Given the description of an element on the screen output the (x, y) to click on. 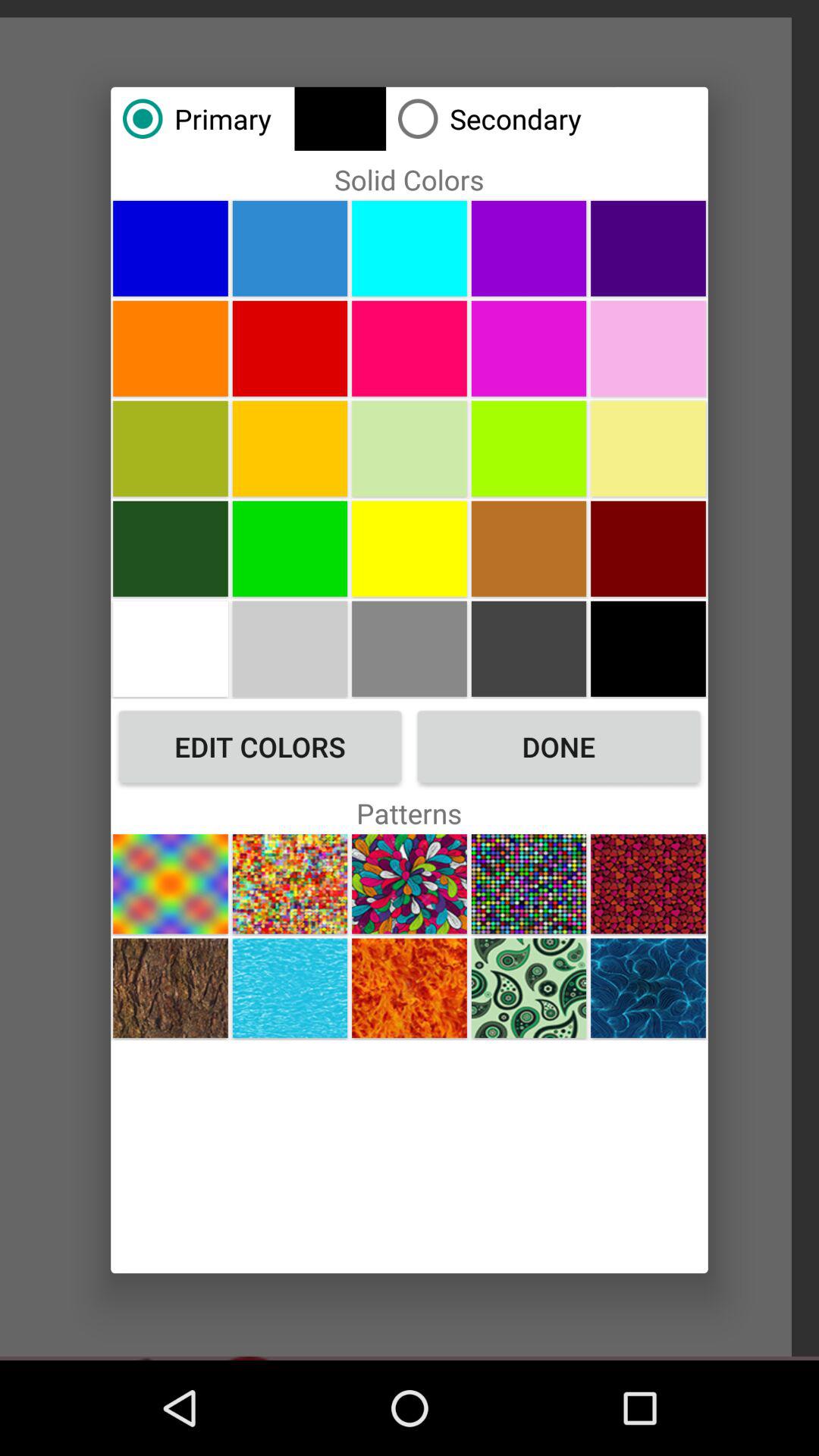
open icon below the solid colors (409, 248)
